Given the description of an element on the screen output the (x, y) to click on. 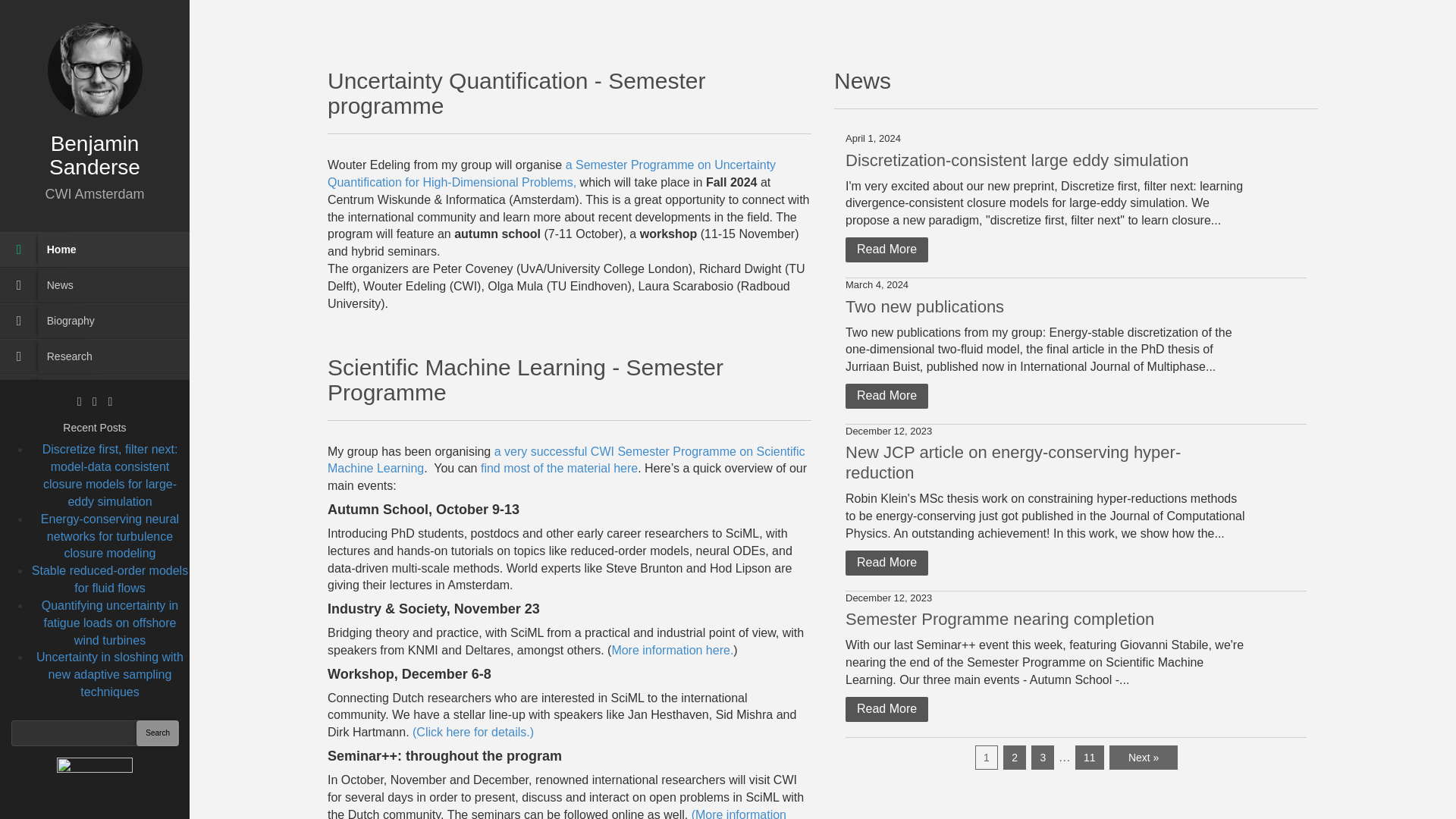
Two new publications (924, 306)
Read More (886, 562)
Home (100, 249)
Publications (100, 392)
Search (157, 733)
UQ-ML seminar (100, 499)
Read More (886, 249)
New JCP article on energy-conserving hyper-reduction (1012, 462)
Semester Programme nearing completion (999, 618)
More information here. (672, 649)
Stable reduced-order models for fluid flows (109, 579)
Travel (100, 534)
Research (100, 356)
